Given the description of an element on the screen output the (x, y) to click on. 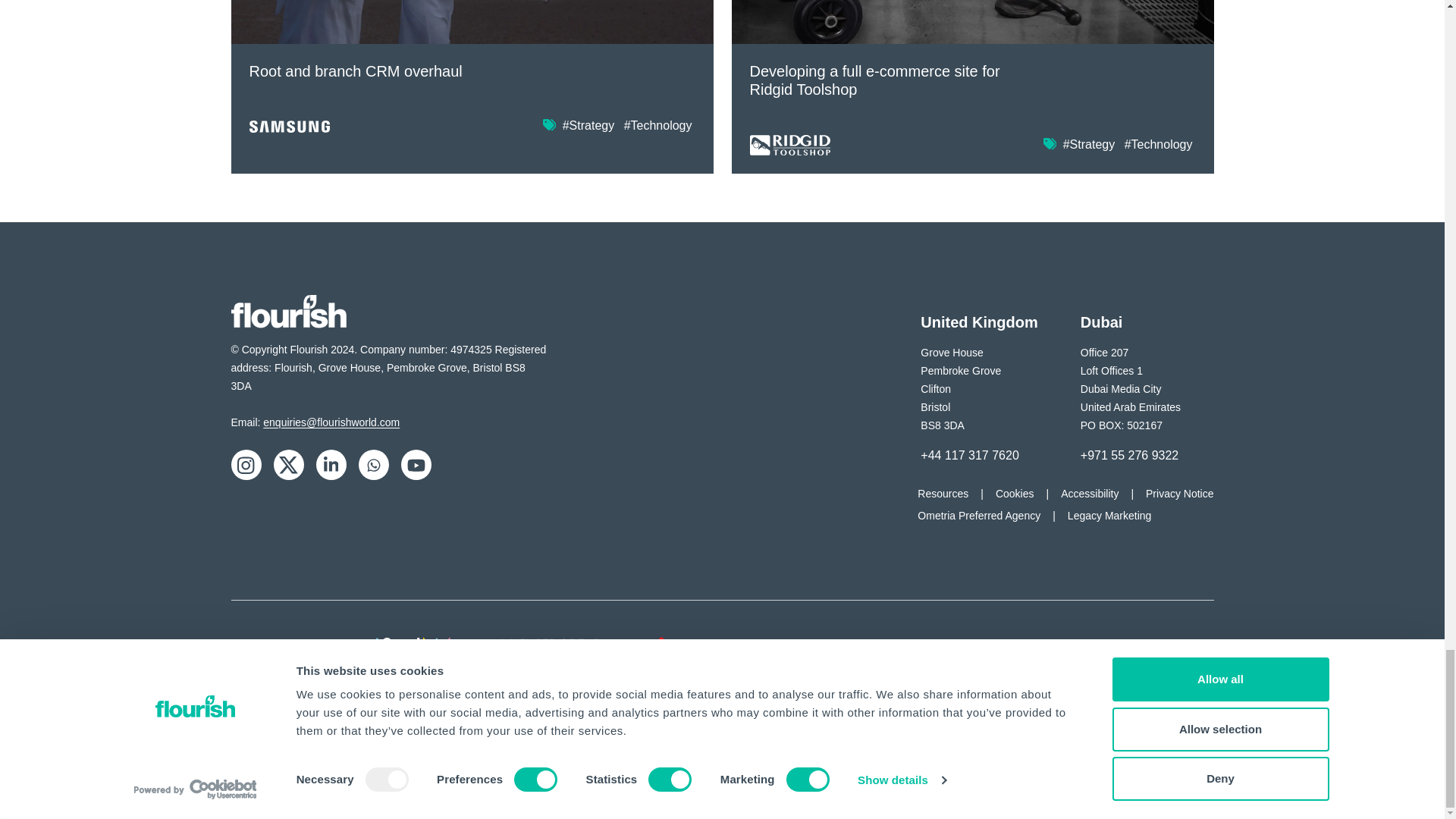
Flourish (288, 311)
